Given the description of an element on the screen output the (x, y) to click on. 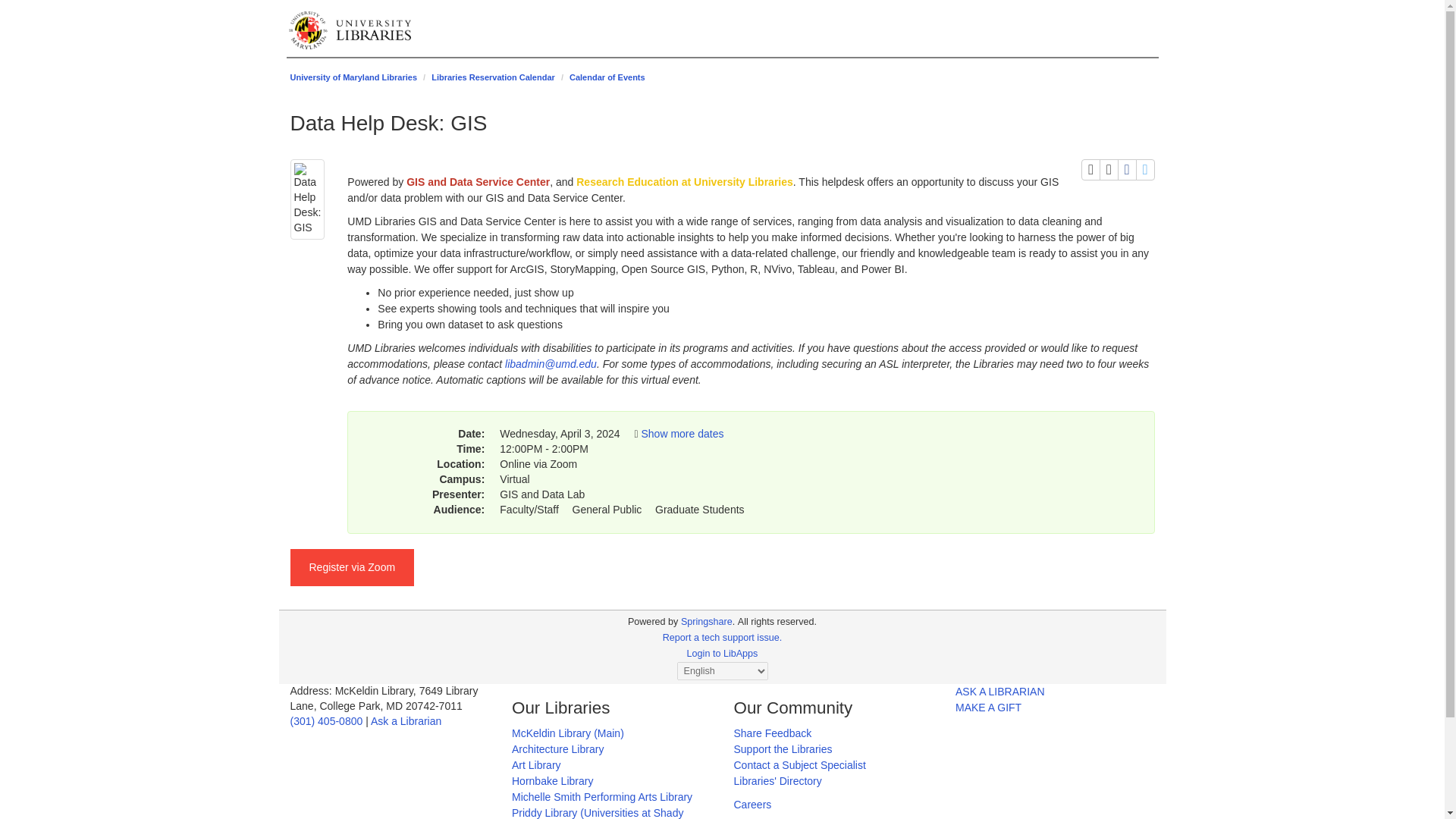
Support the Libraries (782, 748)
Add to a Calendar using iCal (1108, 169)
Contact a Subject Specialist (799, 765)
University of Maryland Libraries (352, 76)
Report a tech support issue. (722, 637)
Architecture Library (558, 748)
Login to LibApps (722, 653)
Research Education at University Libraries (684, 182)
Print the page (1090, 169)
General Public (607, 509)
Ask a Librarian (406, 720)
Show more dates (681, 433)
Share Feedback (772, 733)
Graduate Students (699, 509)
Add to Calendar using iCal (1108, 169)
